Given the description of an element on the screen output the (x, y) to click on. 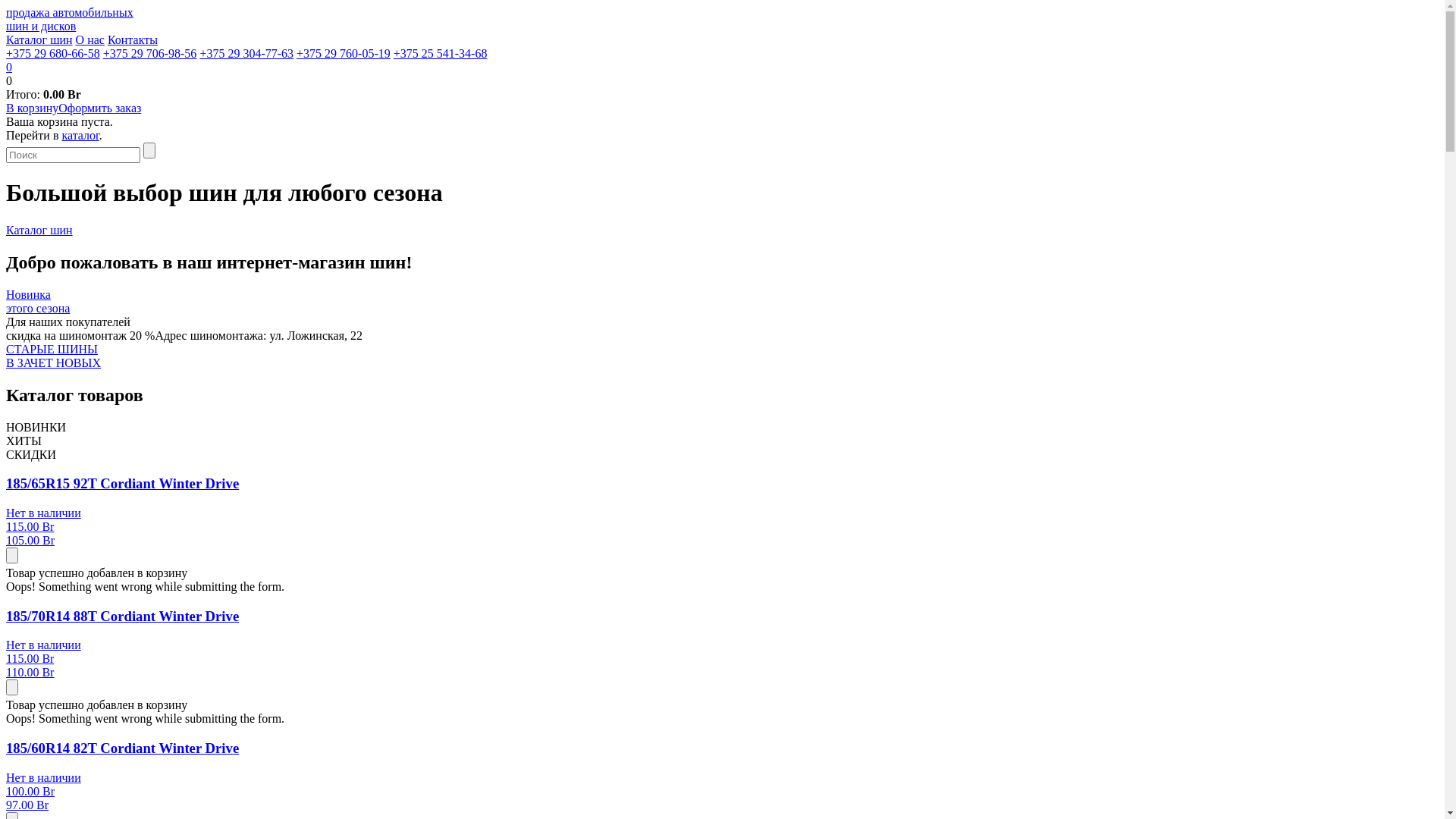
+375 29 680-66-58 Element type: text (53, 53)
+375 29 760-05-19 Element type: text (343, 53)
+375 29 706-98-56 Element type: text (150, 53)
+375 25 541-34-68 Element type: text (440, 53)
0 Element type: text (722, 67)
+375 29 304-77-63 Element type: text (246, 53)
